Given the description of an element on the screen output the (x, y) to click on. 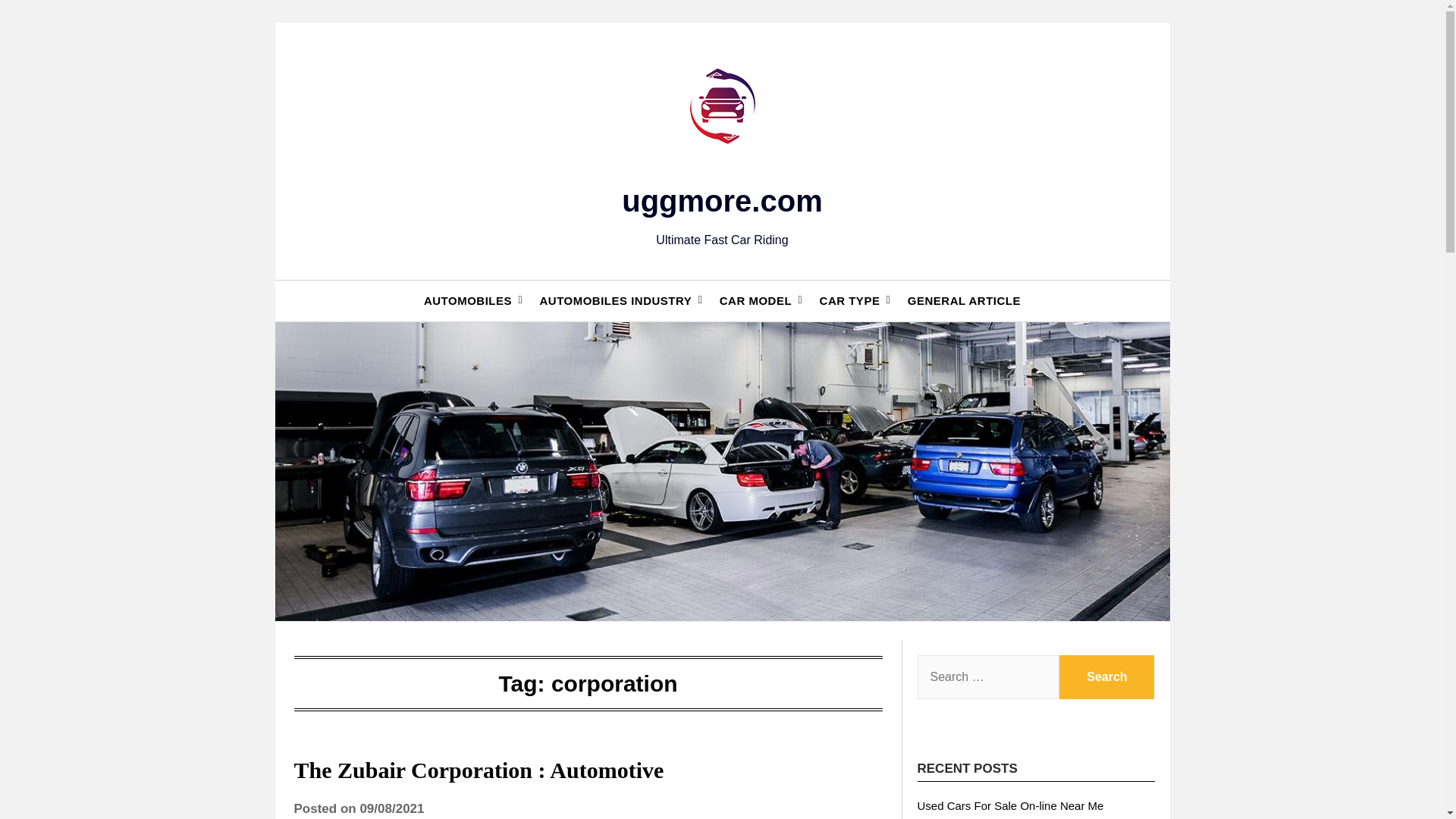
uggmore.com (721, 200)
AUTOMOBILES (468, 300)
GENERAL ARTICLE (963, 300)
CAR TYPE (850, 300)
Search (1106, 677)
The Zubair Corporation : Automotive (478, 769)
CAR MODEL (755, 300)
AUTOMOBILES INDUSTRY (615, 300)
Search (1106, 677)
